Given the description of an element on the screen output the (x, y) to click on. 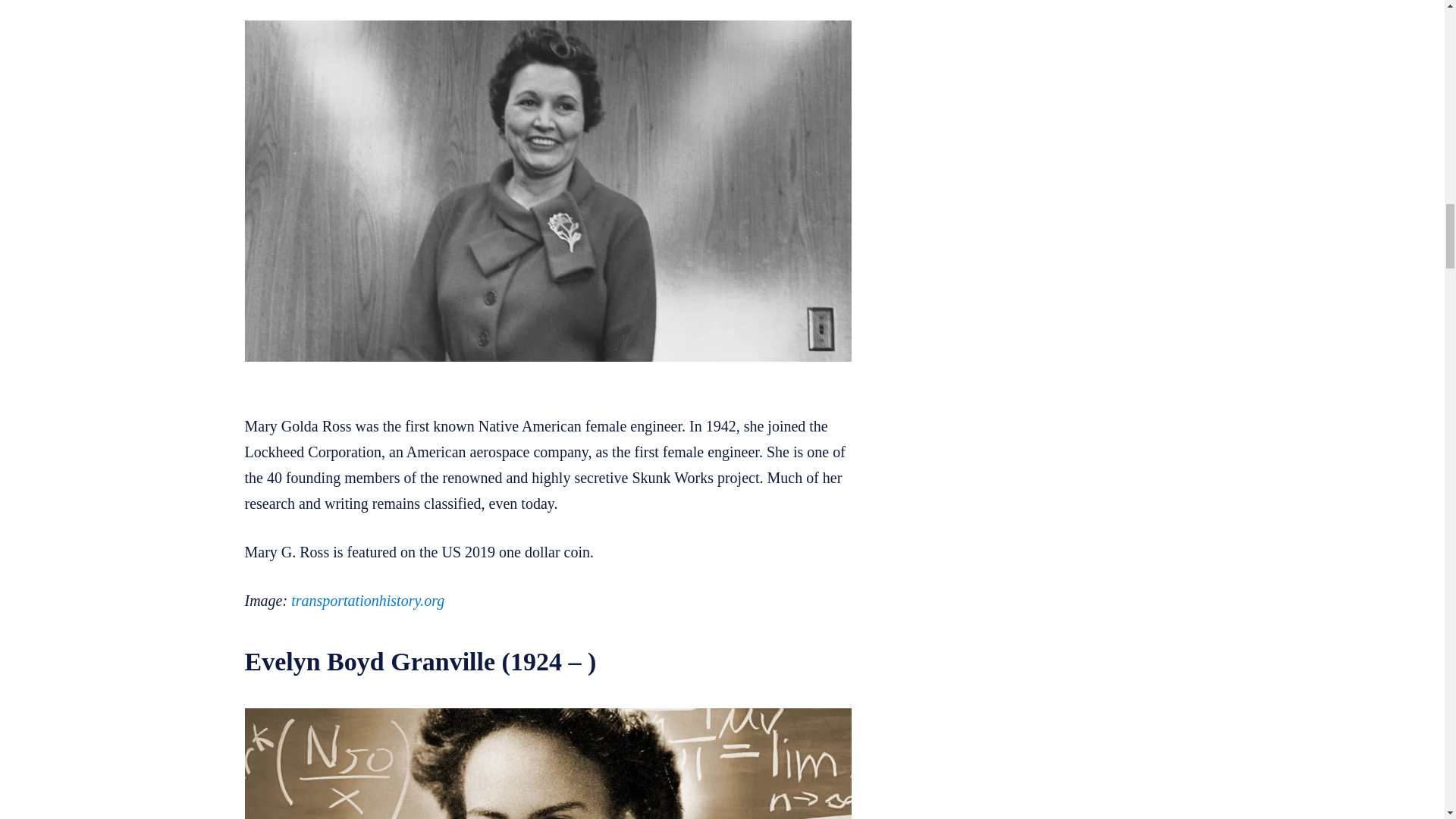
transportationhistory.org (367, 600)
